Given the description of an element on the screen output the (x, y) to click on. 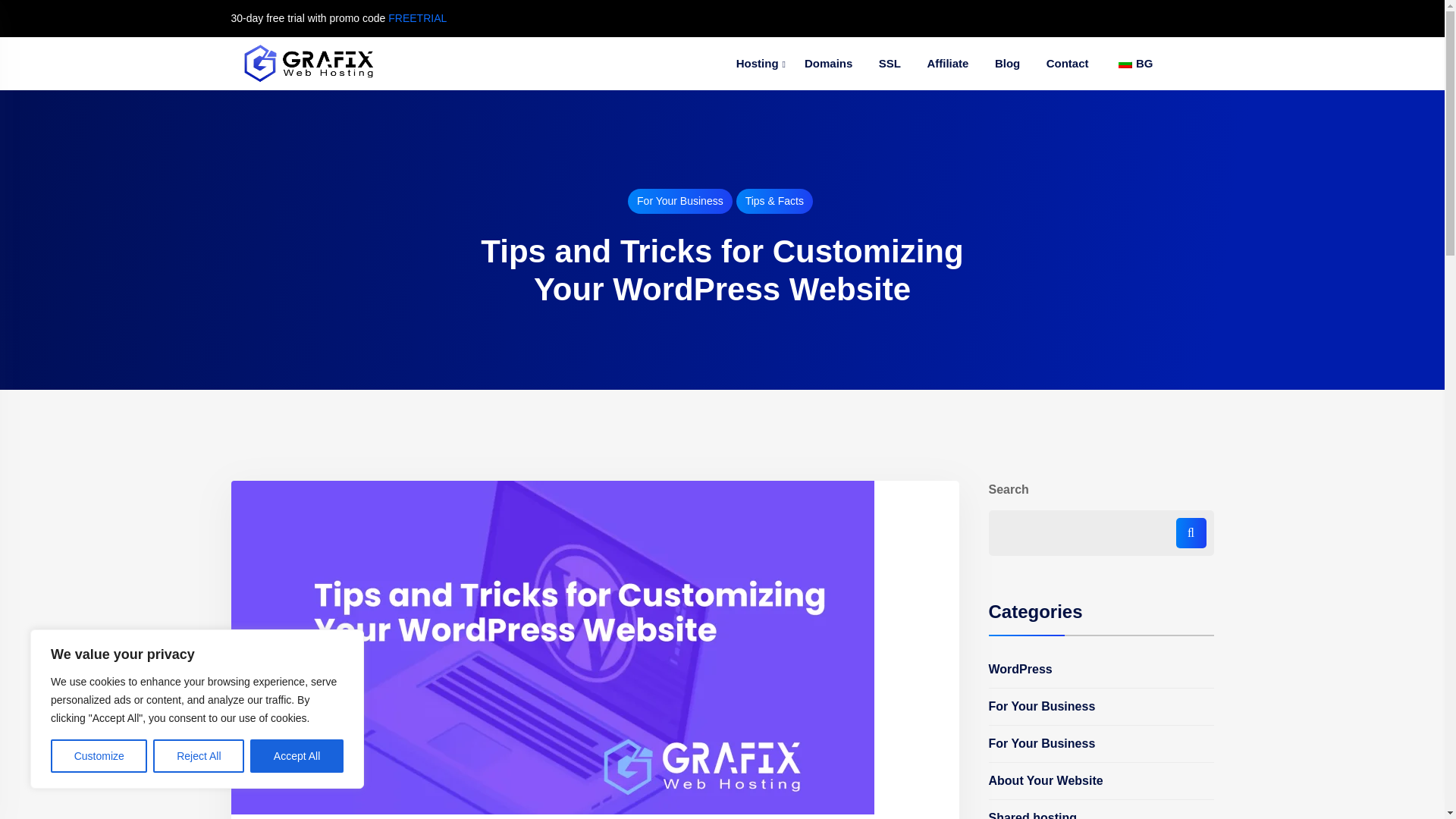
EN (1133, 63)
FREETRIAL (417, 18)
Hosting (757, 63)
Bulgarian (1125, 62)
Hosting (757, 63)
Domains (828, 63)
Contact (1067, 63)
Domains (828, 63)
Affiliate (947, 63)
BG (1133, 63)
